Given the description of an element on the screen output the (x, y) to click on. 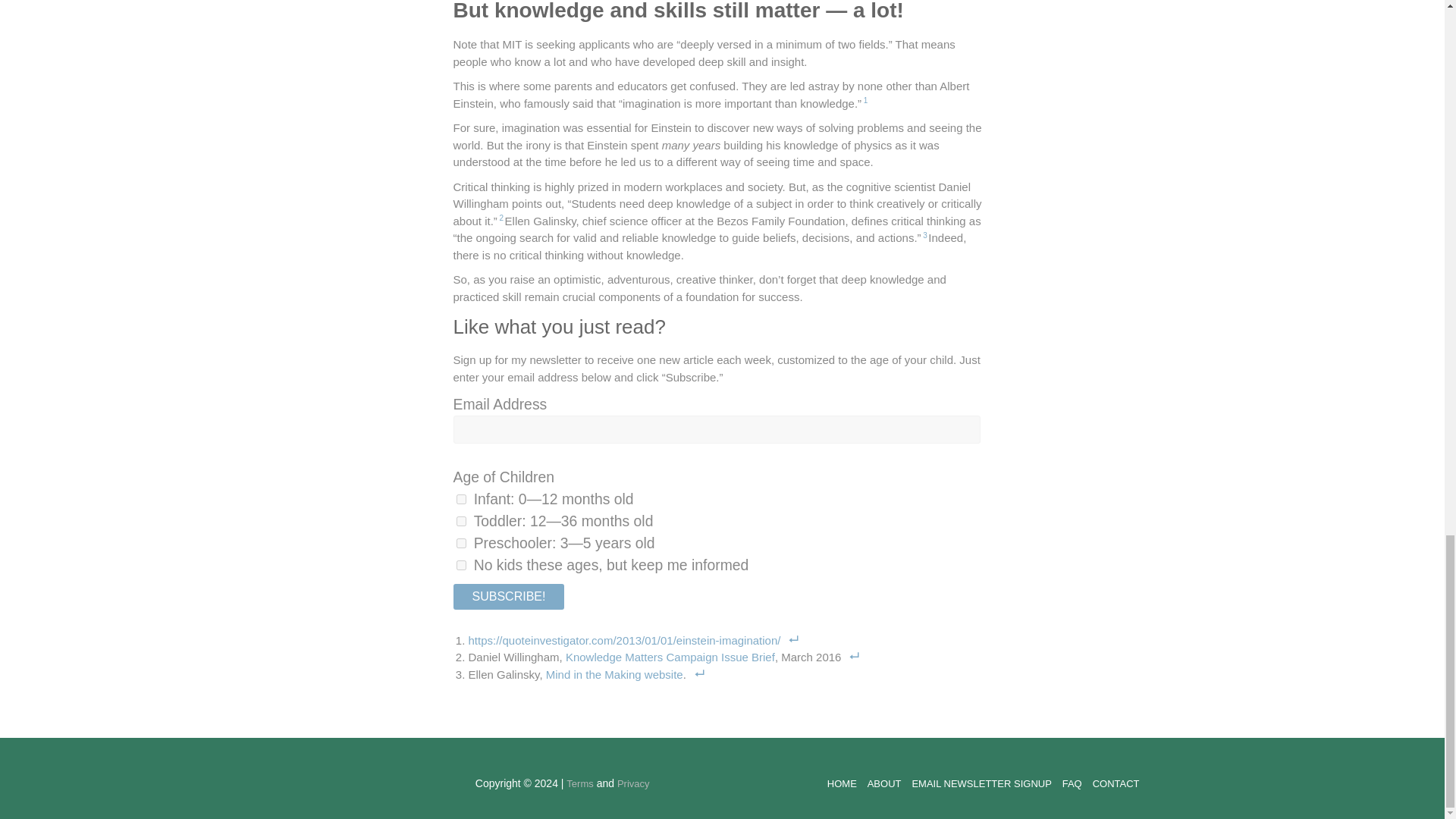
8f20ab66e4 (461, 499)
ABOUT (884, 783)
EMAIL NEWSLETTER SIGNUP (981, 783)
SUBSCRIBE! (508, 596)
Terms (579, 783)
SUBSCRIBE! (508, 596)
Privacy (633, 783)
HOME (842, 783)
CONTACT (1116, 783)
bb03cfb87a (461, 542)
